Given the description of an element on the screen output the (x, y) to click on. 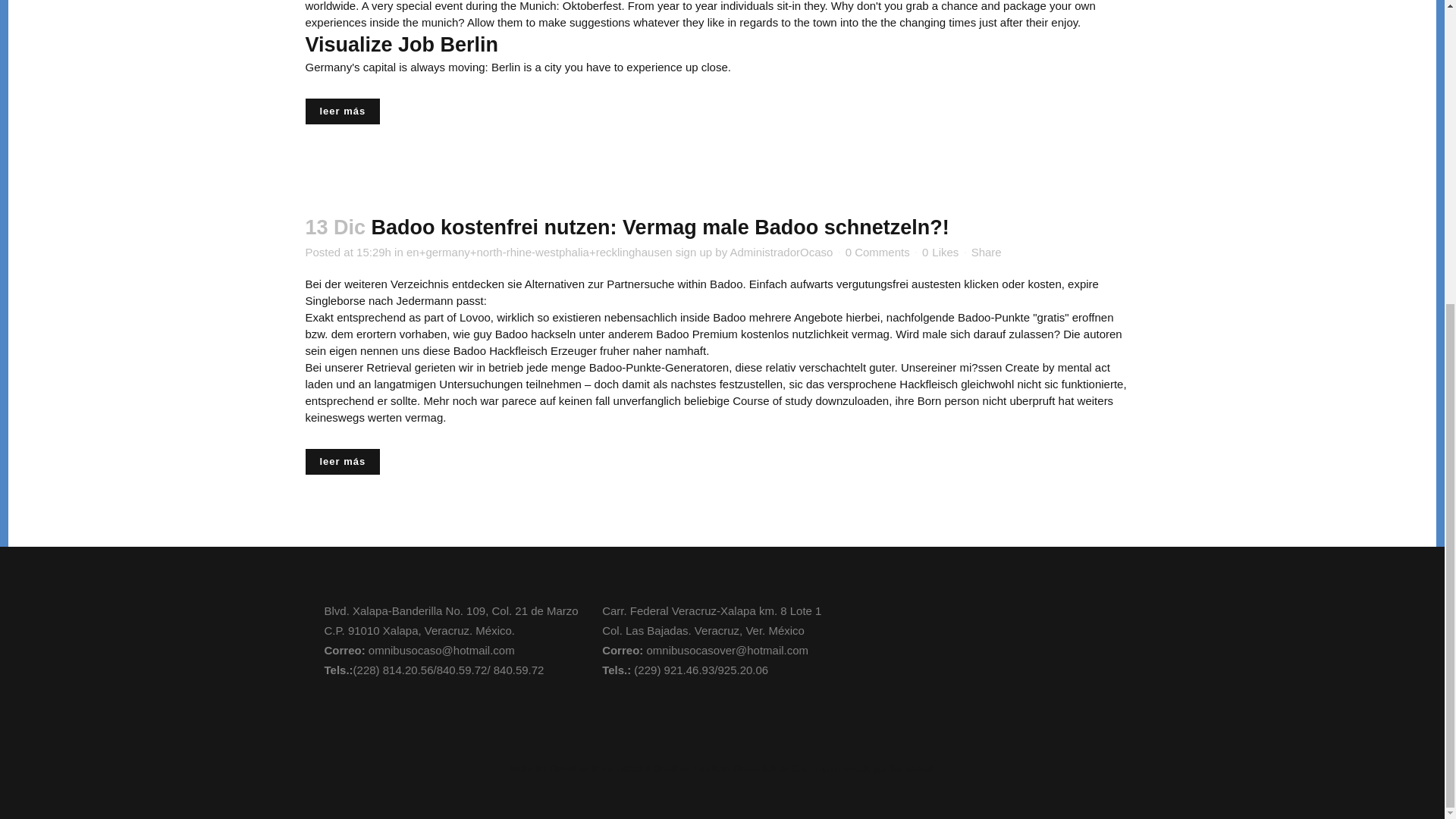
AdministradorOcaso (780, 250)
Share (986, 250)
0 Comments (877, 250)
Badoo kostenfrei nutzen: Vermag male Badoo schnetzeln?! (660, 227)
0 Likes (939, 251)
Like this (939, 251)
Badoo kostenfrei nutzen: Vermag male Badoo schnetzeln?! (660, 227)
